Given the description of an element on the screen output the (x, y) to click on. 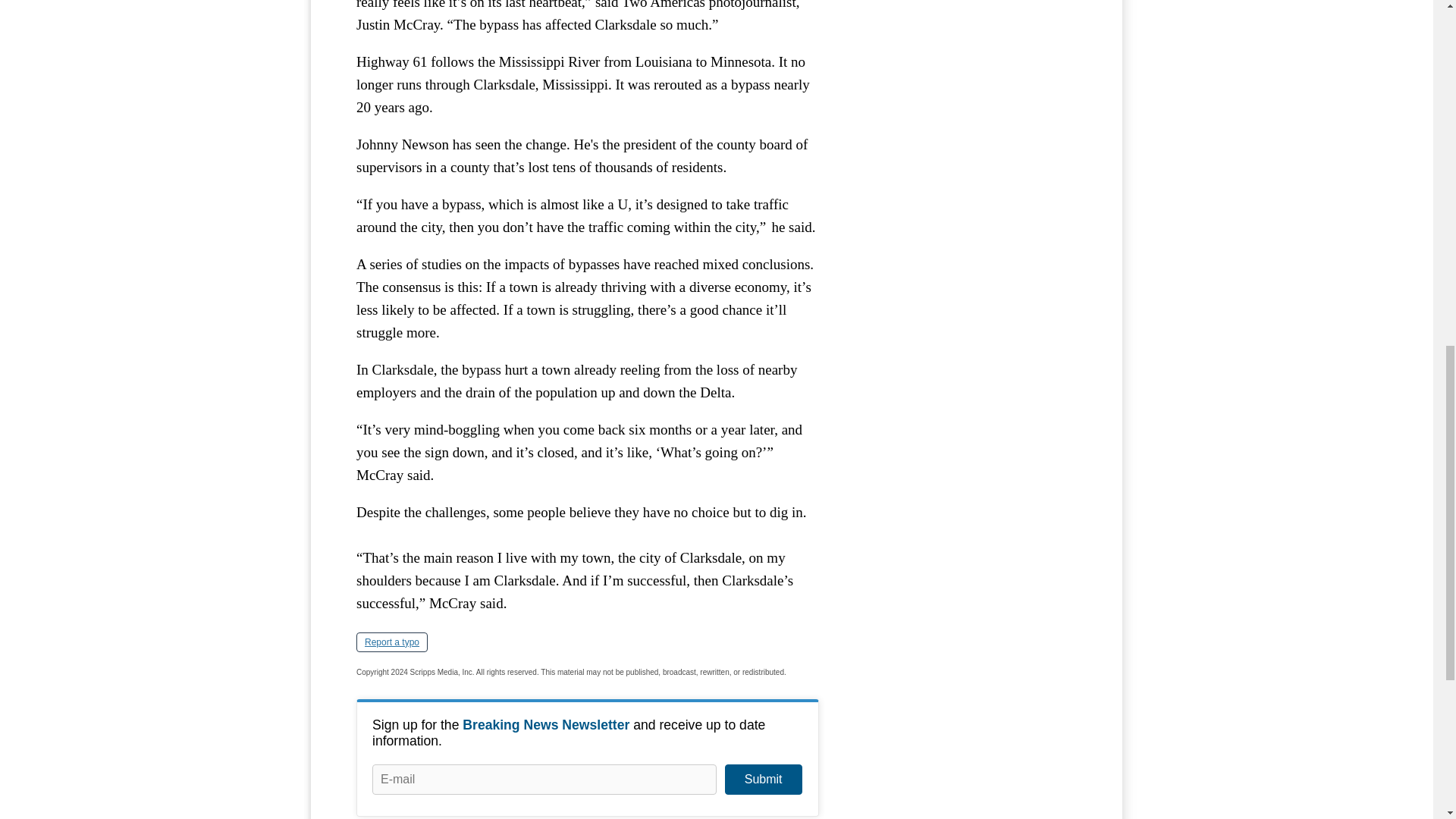
Submit (763, 779)
